Given the description of an element on the screen output the (x, y) to click on. 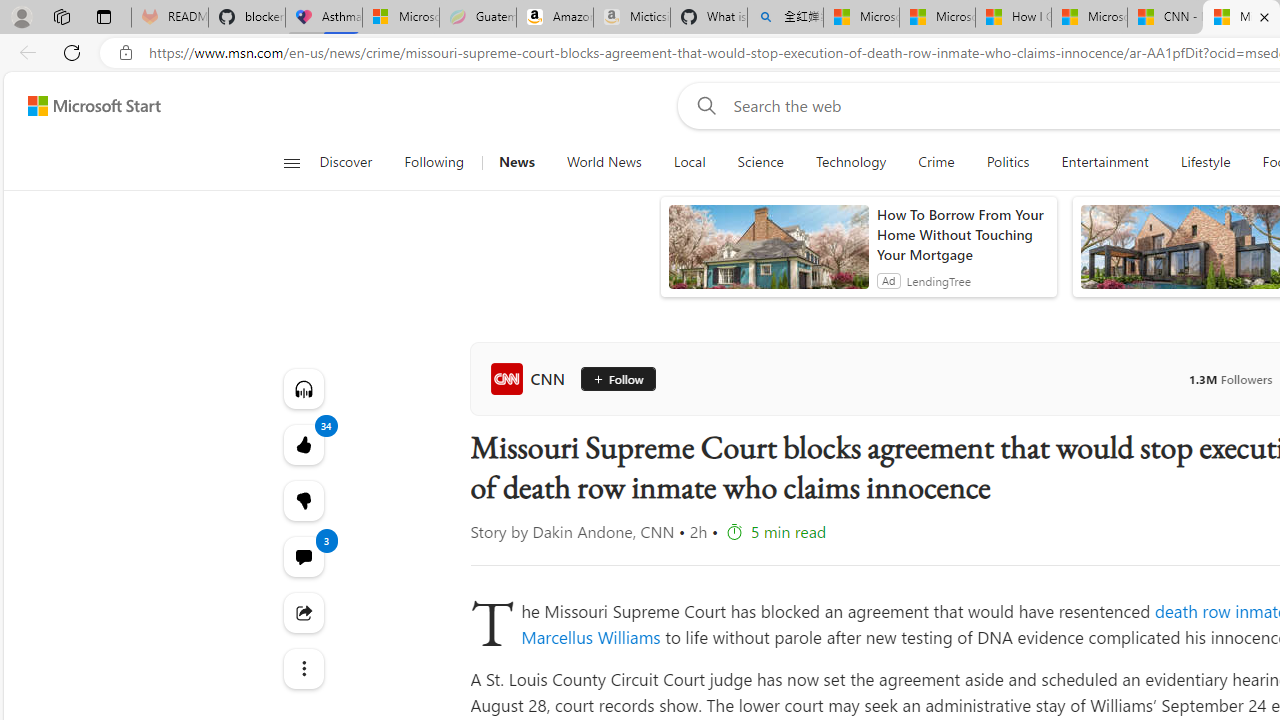
CNN - MSN (1165, 17)
Follow (617, 378)
